Given the description of an element on the screen output the (x, y) to click on. 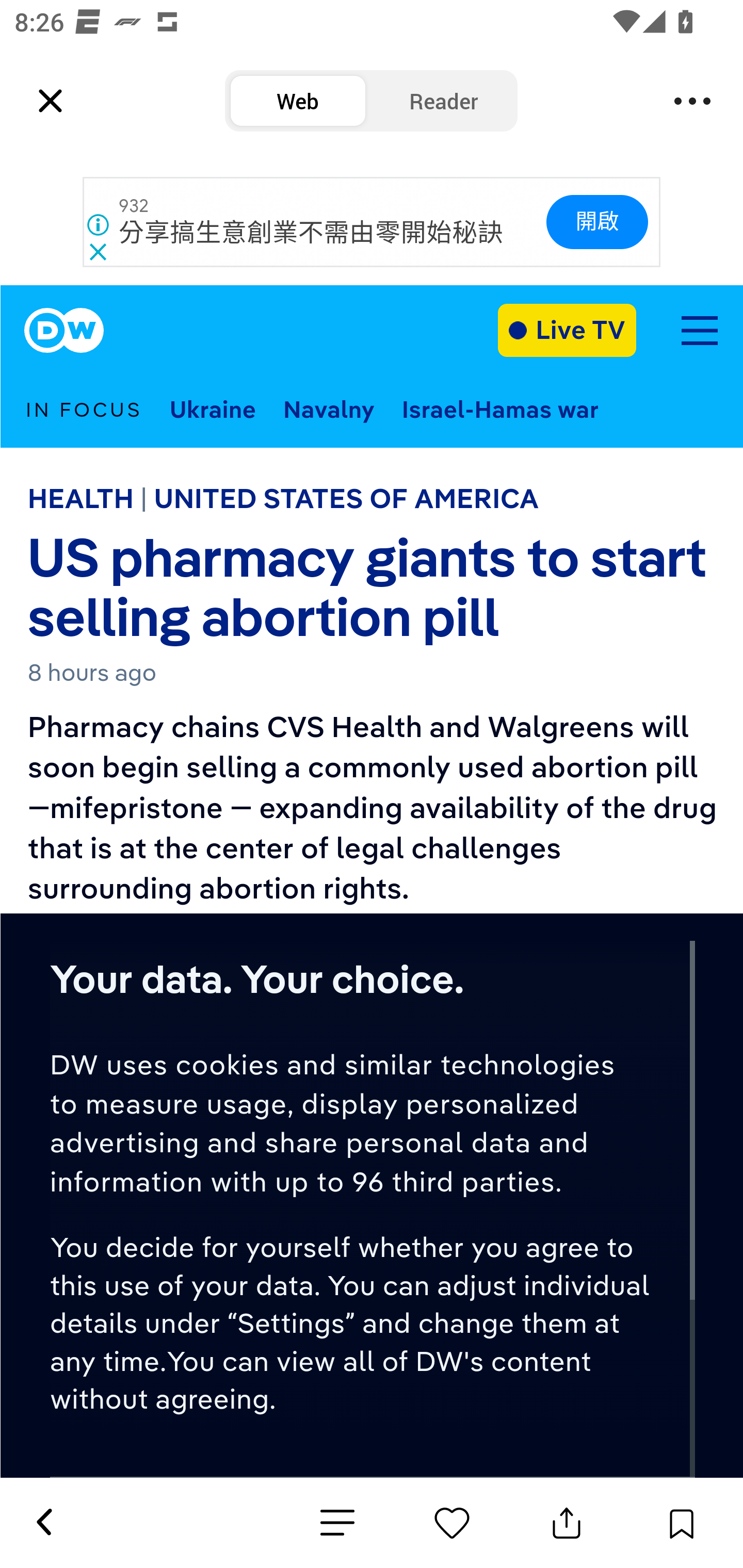
Leading Icon (50, 101)
Reader (443, 101)
Menu (692, 101)
932 (133, 205)
開啟 (596, 221)
分享搞生意創業不需由零開始秘訣 (311, 232)
Open main navigation (699, 330)
Live TV (567, 329)
dw.com home - Made for minds (63, 330)
Ukraine (212, 409)
Navalny (328, 409)
Israel-Hamas war (500, 409)
HEALTH (80, 497)
UNITED STATES OF AMERICA (346, 497)
Back Button (43, 1523)
News Detail Emotion (451, 1523)
Share Button (566, 1523)
Save Button (680, 1523)
News Detail Emotion (337, 1523)
